Given the description of an element on the screen output the (x, y) to click on. 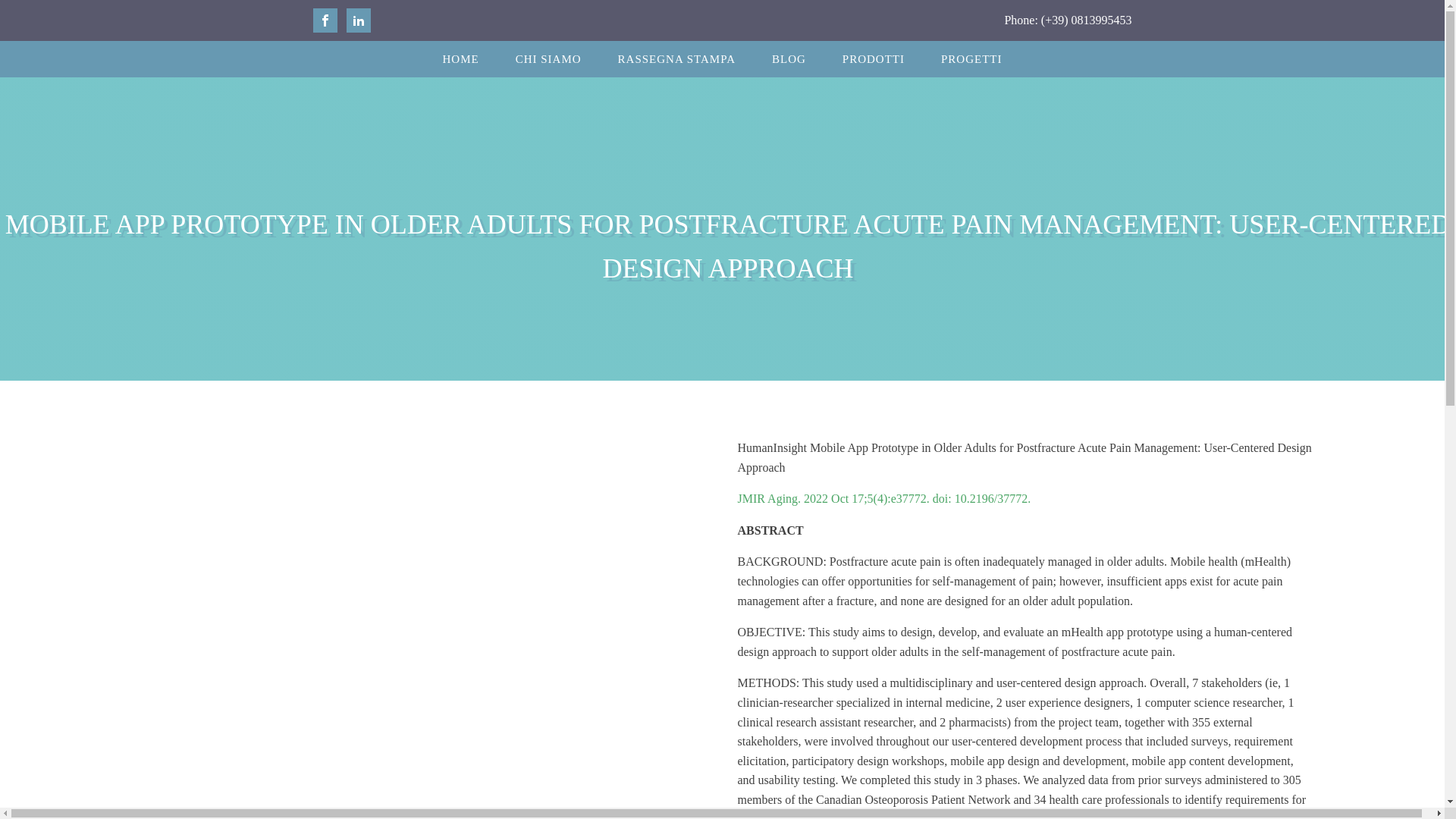
PROGETTI (971, 58)
PRODOTTI (873, 58)
BLOG (789, 58)
HOME (459, 58)
CHI SIAMO (548, 58)
RASSEGNA STAMPA (676, 58)
